Given the description of an element on the screen output the (x, y) to click on. 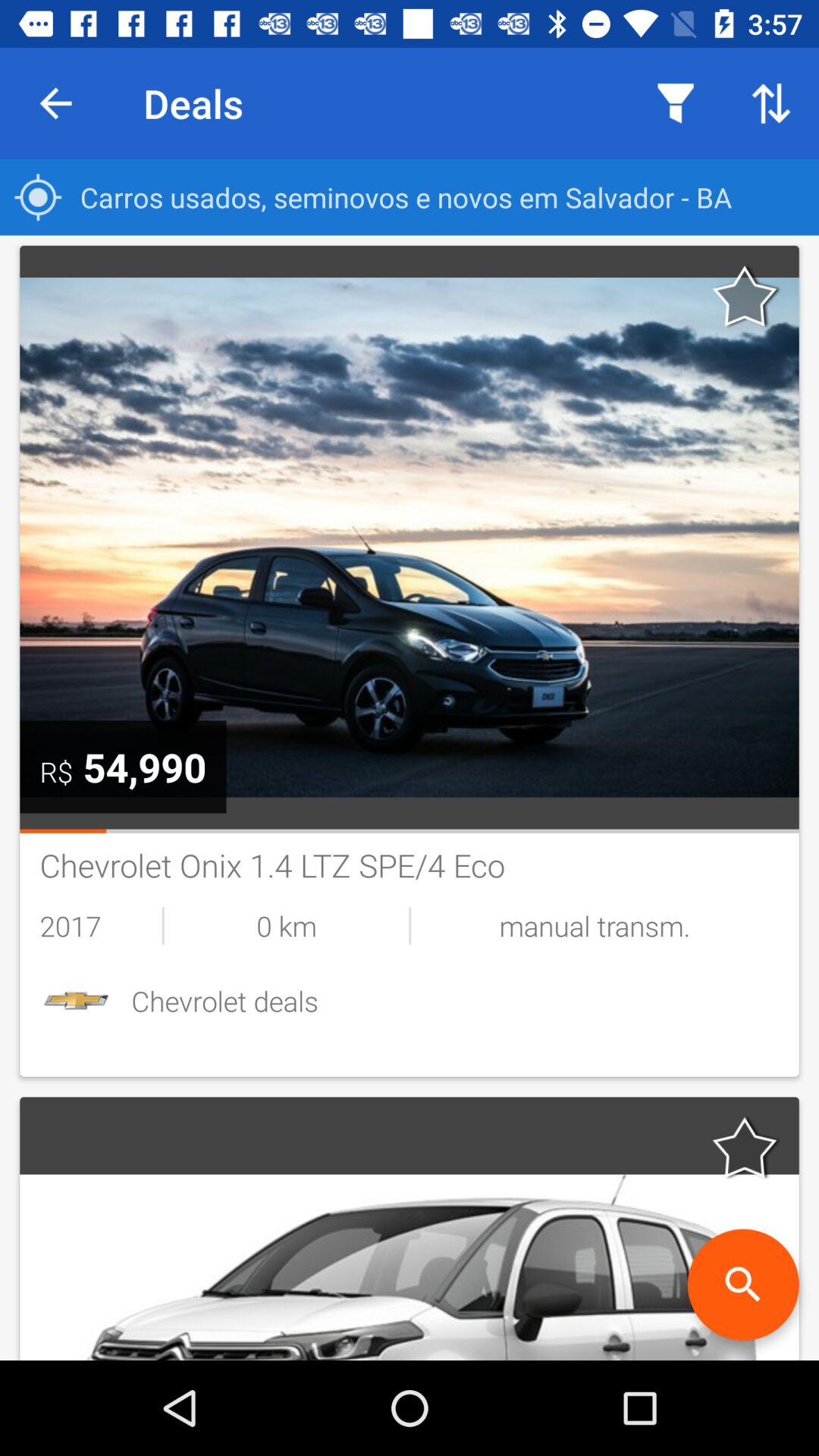
favorite car (745, 1147)
